Given the description of an element on the screen output the (x, y) to click on. 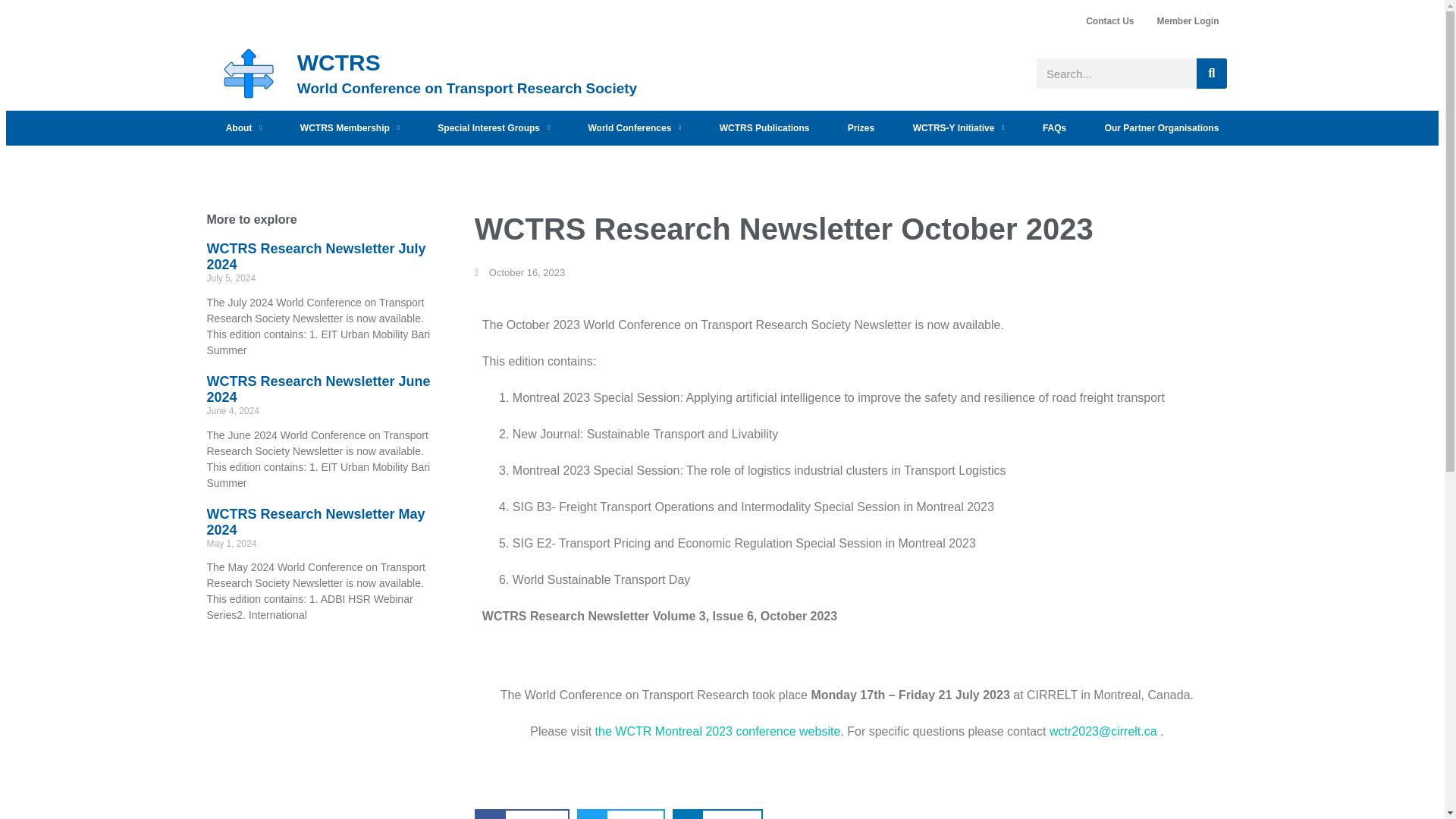
FAQs (1054, 127)
WCTRS Membership (350, 127)
Our Partner Organisations (1160, 127)
World Conferences (634, 127)
Member Login (1187, 20)
WCTRS Publications (764, 127)
About (243, 127)
Special Interest Groups (494, 127)
Prizes (860, 127)
WCTRS-Y Initiative (958, 127)
Contact Us (1109, 20)
